Given the description of an element on the screen output the (x, y) to click on. 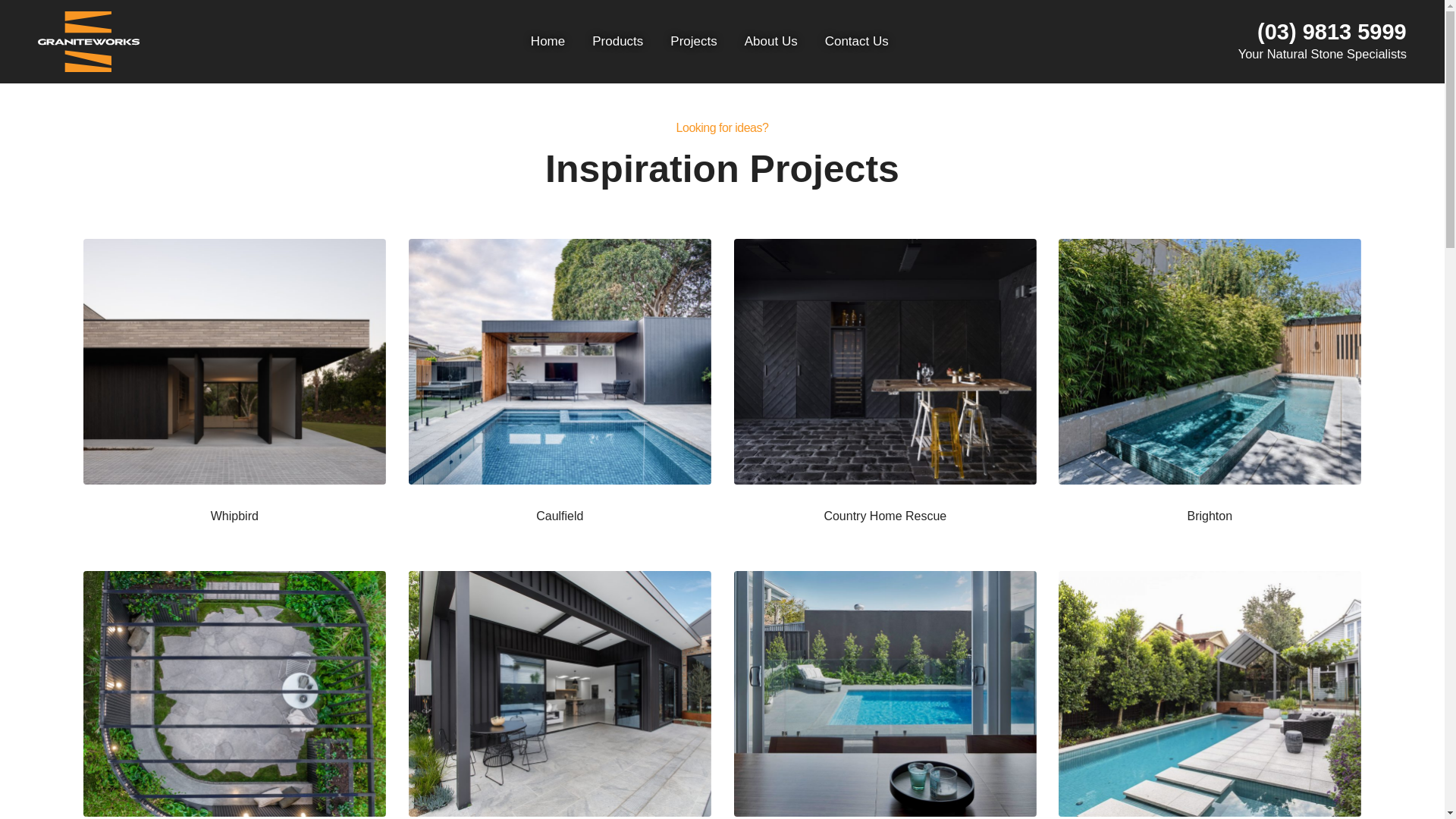
Products Element type: text (617, 41)
Caulfield Element type: text (559, 393)
Projects Element type: text (693, 41)
(03) 9813 5999 Element type: text (1331, 31)
Whipbird Element type: text (234, 393)
Contact Us Element type: text (856, 41)
About Us Element type: text (770, 41)
Country Home Rescue Element type: text (885, 393)
Home Element type: text (547, 41)
Brighton Element type: text (1209, 393)
